Given the description of an element on the screen output the (x, y) to click on. 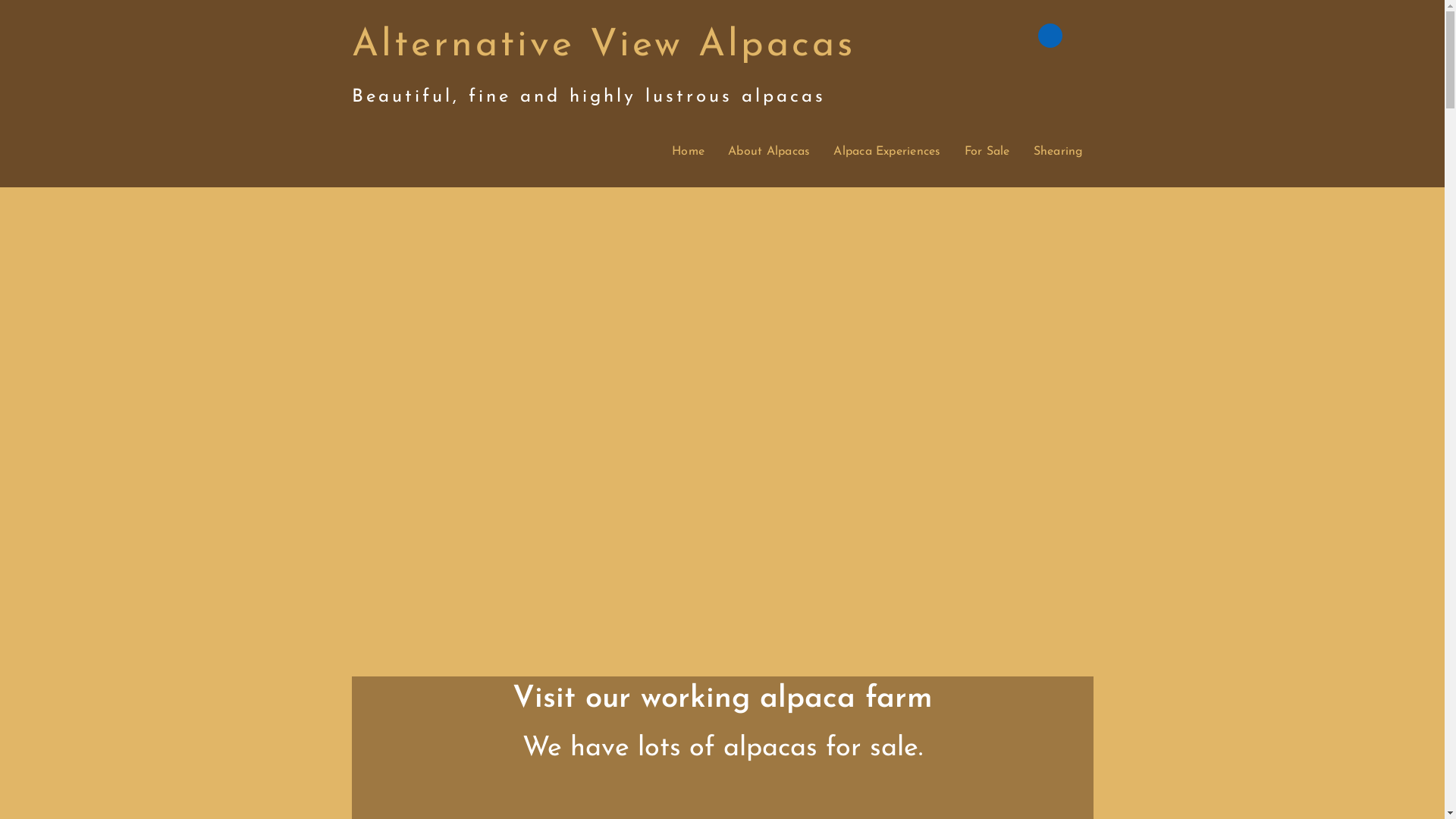
Alternative View Alpacas Element type: text (603, 45)
Home Element type: text (687, 151)
About Alpacas Element type: text (768, 151)
For Sale Element type: text (987, 151)
Alpaca Experiences Element type: text (886, 151)
Shearing Element type: text (1058, 151)
